Given the description of an element on the screen output the (x, y) to click on. 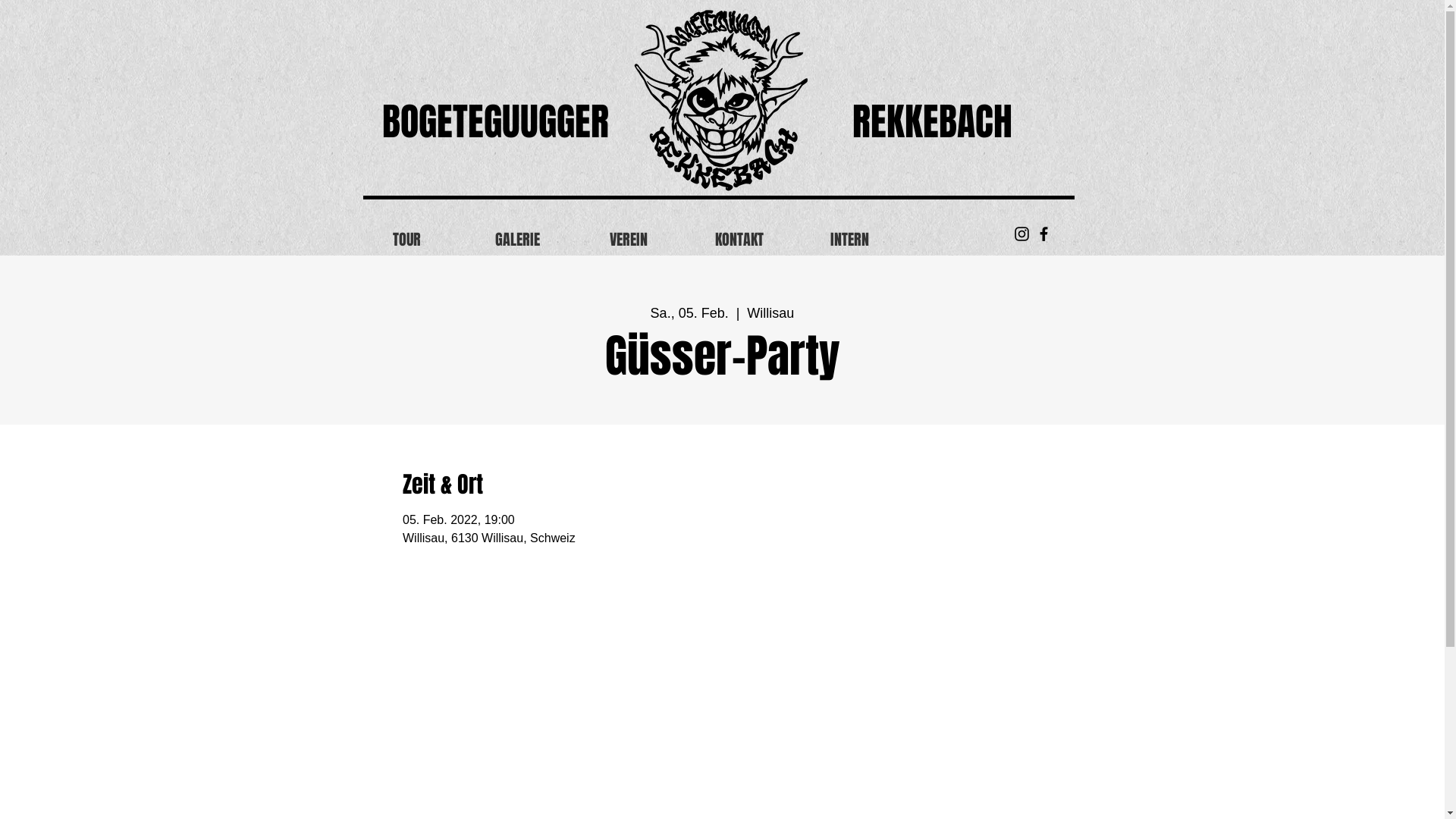
BOGETEGUUGGER Element type: text (495, 121)
VEREIN Element type: text (628, 239)
REKKEBACH Element type: text (932, 121)
GALERIE Element type: text (517, 239)
INTERN Element type: text (849, 239)
KONTAKT Element type: text (739, 239)
TOUR Element type: text (405, 239)
Map Element type: hover (722, 698)
